Given the description of an element on the screen output the (x, y) to click on. 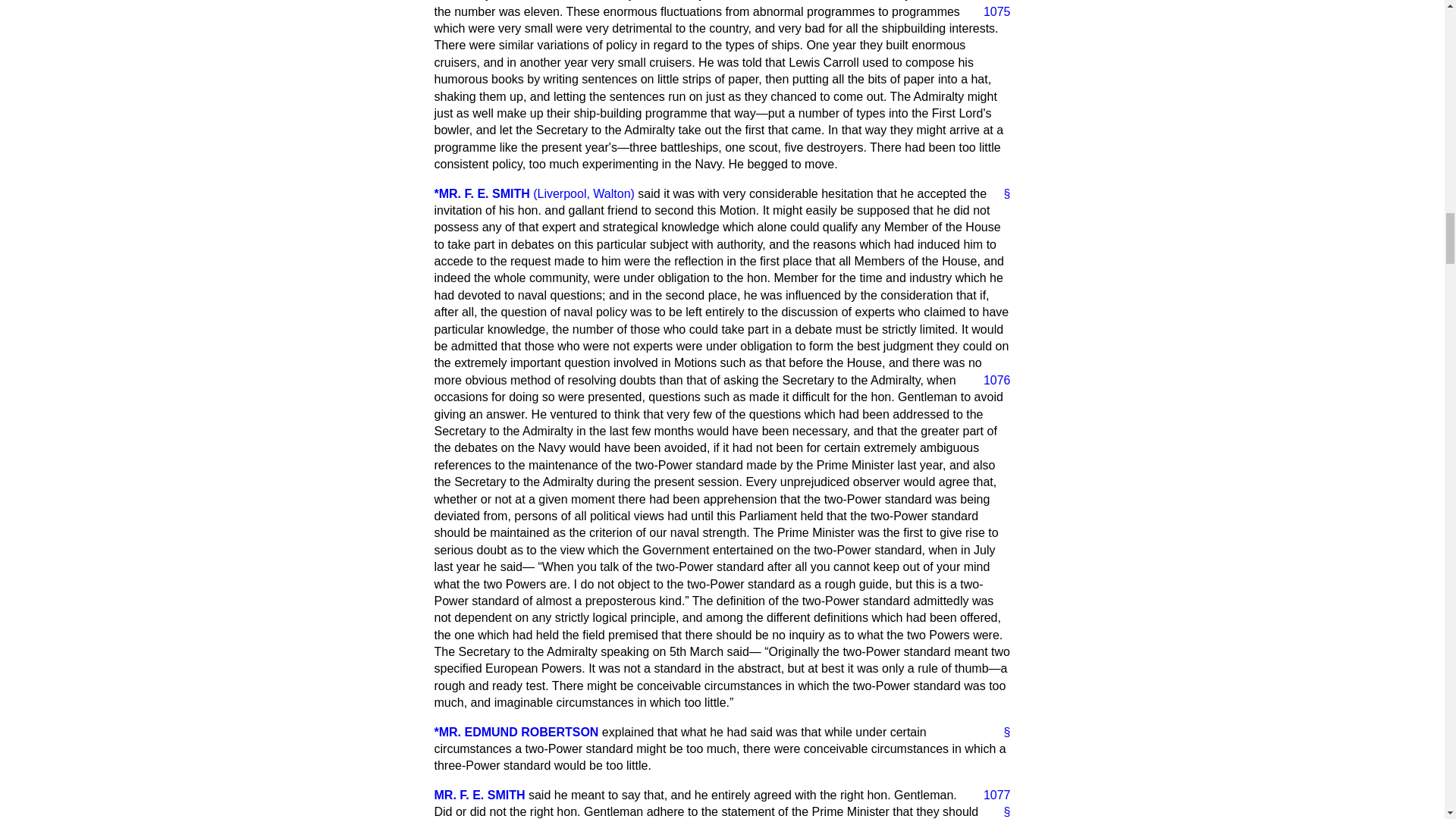
1075 (990, 12)
1077 (990, 795)
Link to this speech by Mr Edmund Robertson (1000, 732)
Mr F.E. Smith (481, 193)
Mr Edmund Robertson (515, 731)
Liverpool Walton (583, 193)
Link to this speech by Mr F.E. Smith (1000, 193)
MR. F. E. SMITH (478, 794)
1076 (990, 380)
